Given the description of an element on the screen output the (x, y) to click on. 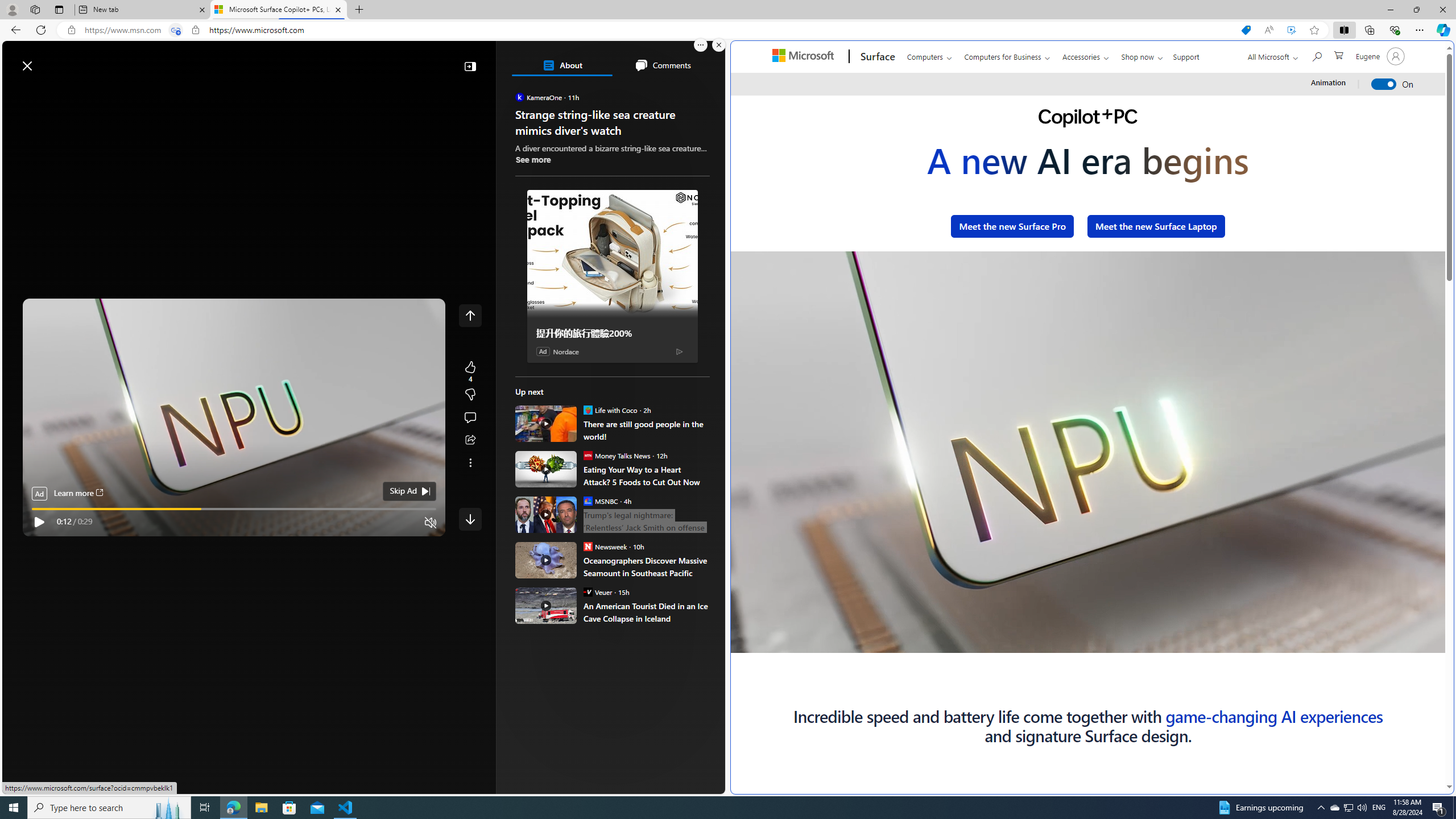
Class: control (469, 518)
4 Like (469, 371)
Open navigation menu (16, 92)
Skip Ad (403, 490)
An American Tourist Died in an Ice Cave Collapse in Iceland (646, 611)
Personalize (679, 92)
Share this story (469, 440)
Play (38, 522)
